Given the description of an element on the screen output the (x, y) to click on. 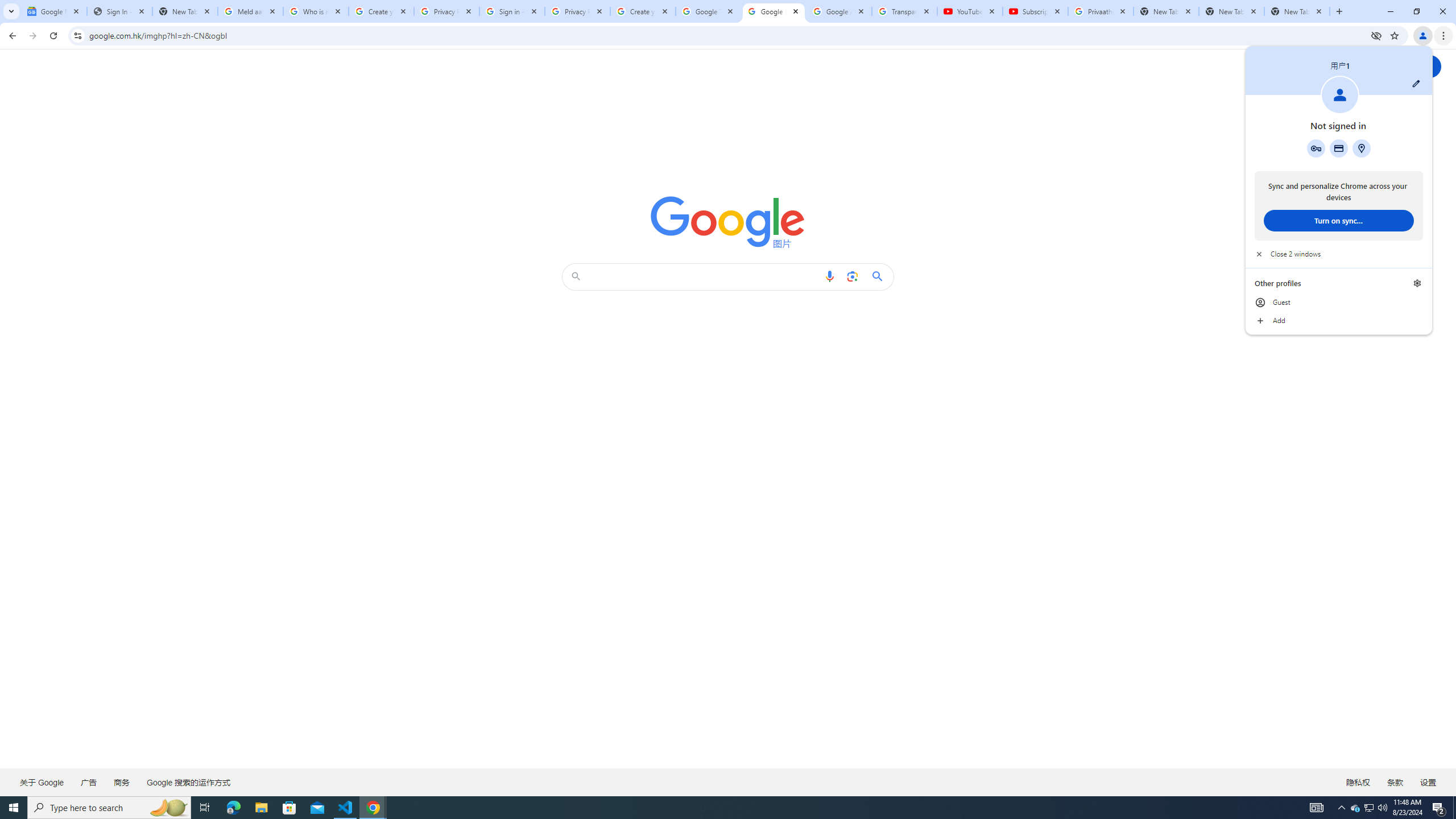
Sign In - USA TODAY (119, 11)
Add (1338, 321)
Who is my administrator? - Google Account Help (315, 11)
Task View (204, 807)
Sign in - Google Accounts (512, 11)
Type here to search (108, 807)
Manage profiles (1417, 283)
YouTube (969, 11)
Notification Chevron (1341, 807)
Close 2 windows (1338, 253)
